Given the description of an element on the screen output the (x, y) to click on. 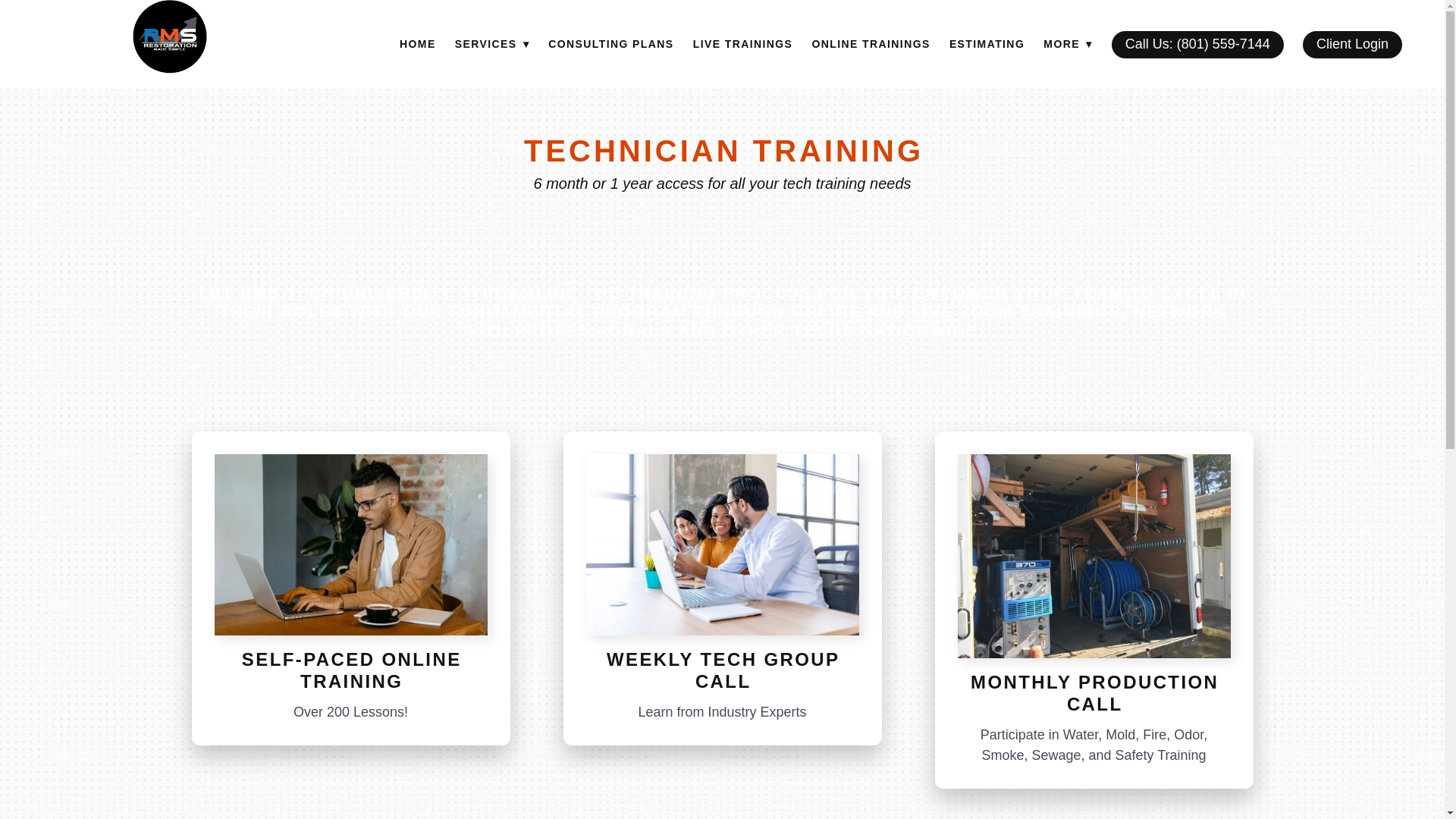
LIVE TRAININGS (743, 44)
HOME (416, 44)
ONLINE TRAININGS (870, 44)
Restoration Made Simple (169, 36)
CONSULTING PLANS (610, 44)
Client Login (1352, 44)
ESTIMATING (987, 44)
